Given the description of an element on the screen output the (x, y) to click on. 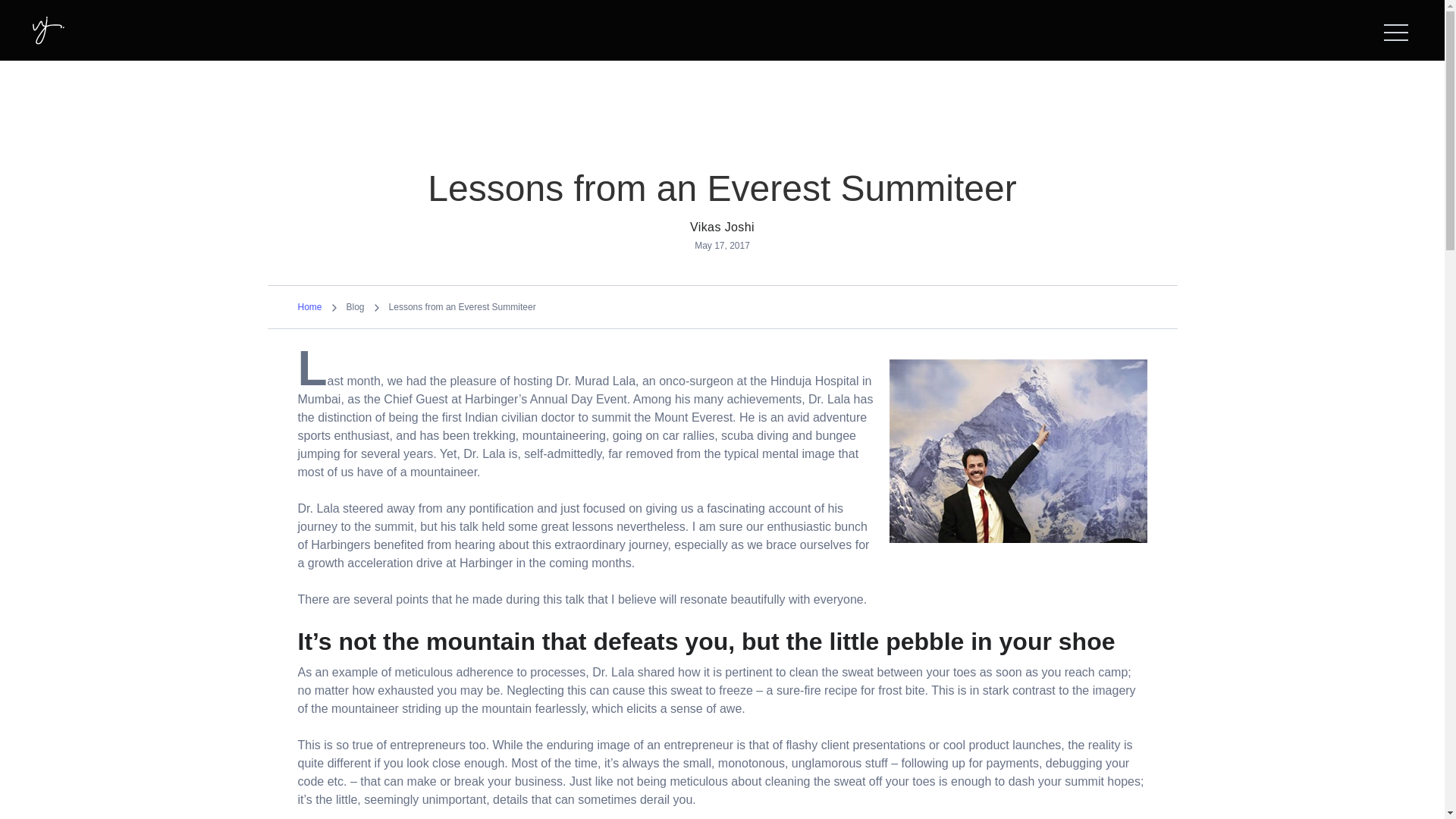
Home (309, 307)
